Given the description of an element on the screen output the (x, y) to click on. 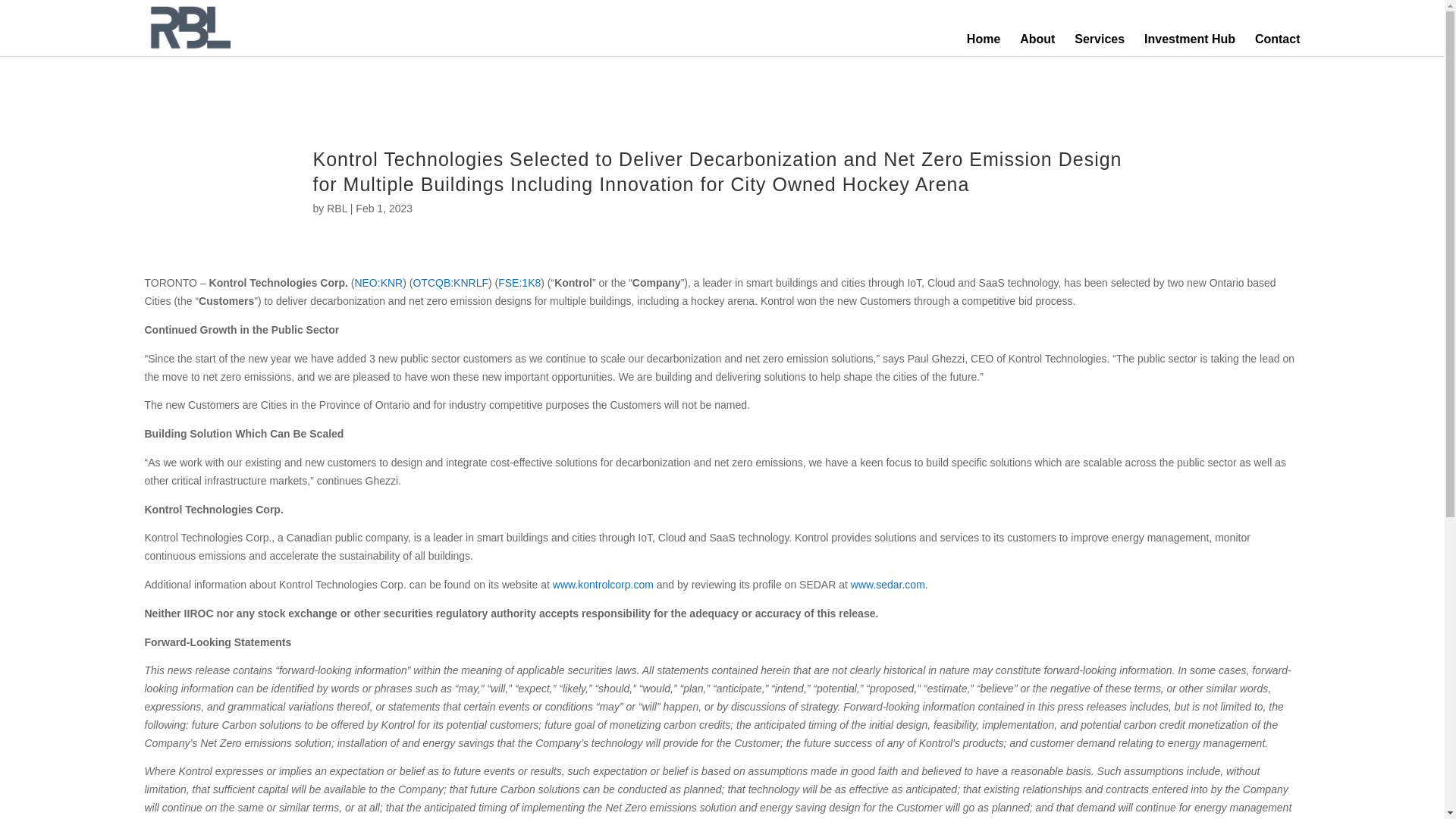
Investment Hub (1189, 33)
www.kontrolcorp.com (603, 573)
OTCQB:KNRLF (449, 271)
NEO:KNR (378, 271)
Services (1099, 33)
Contact (1277, 33)
FSE:1K8 (518, 271)
www.sedar.com (887, 573)
